Given the description of an element on the screen output the (x, y) to click on. 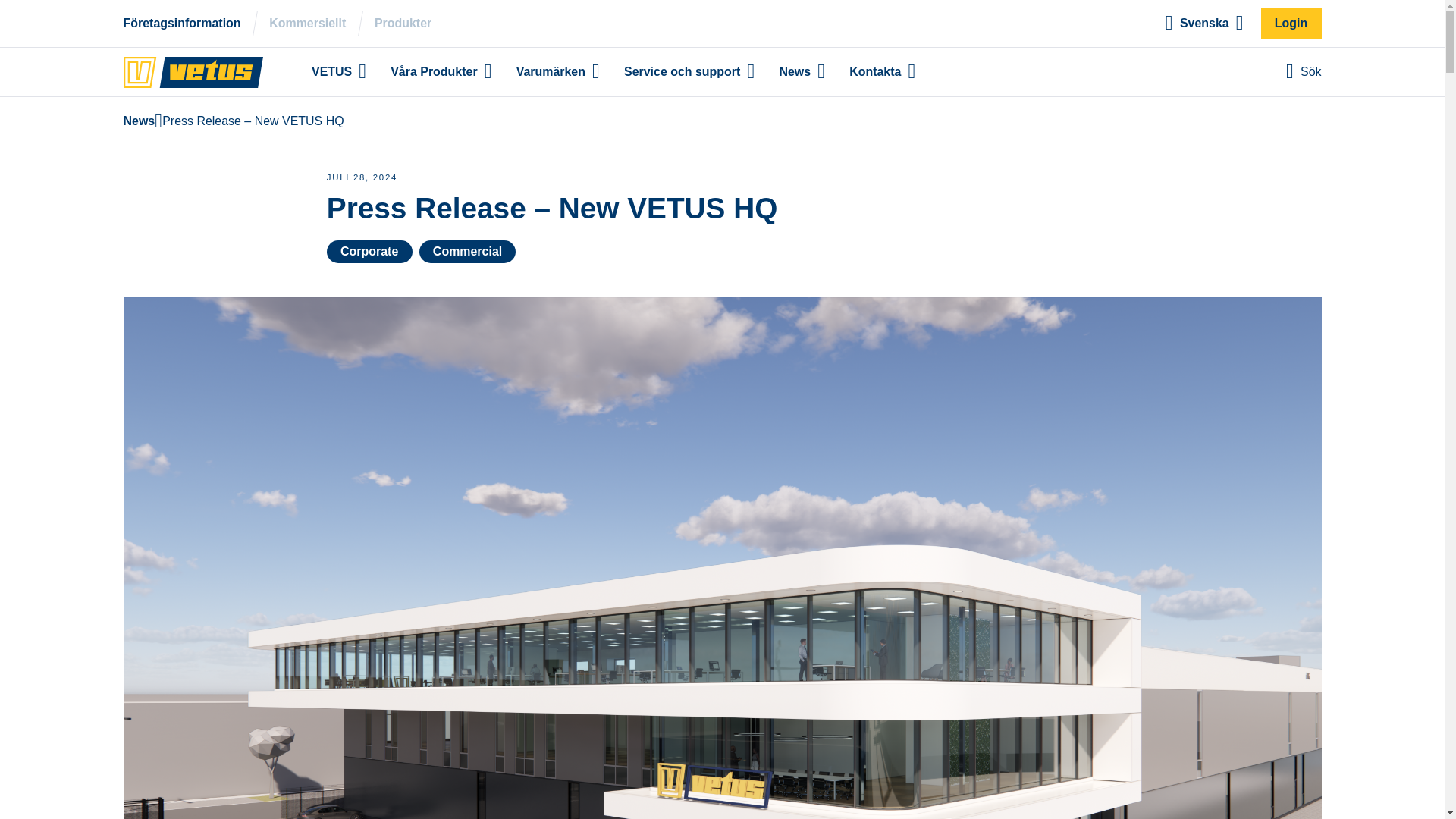
Produkter (402, 23)
Login (1291, 22)
Svenska (1202, 22)
Kommersiellt (307, 23)
